Given the description of an element on the screen output the (x, y) to click on. 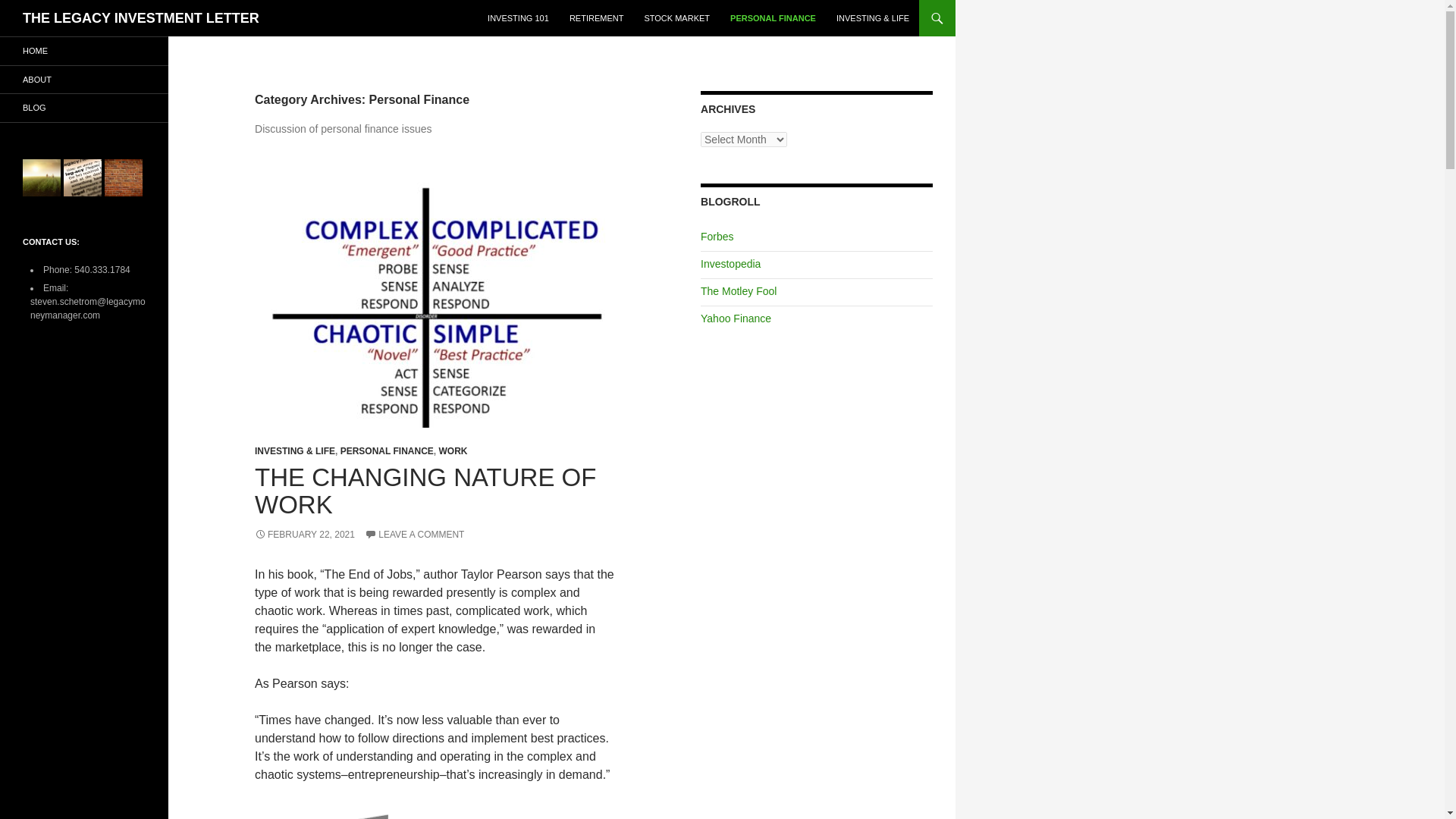
PERSONAL FINANCE (386, 450)
STOCK MARKET (676, 18)
LEAVE A COMMENT (414, 534)
THE LEGACY INVESTMENT LETTER (141, 18)
PERSONAL FINANCE (772, 18)
Investment Education (730, 263)
WORK (452, 450)
Business Finance, Stock Market, Quotes, and News (735, 318)
THE CHANGING NATURE OF WORK (424, 490)
INVESTING 101 (518, 18)
Stock Investing Advice and Research (738, 291)
FEBRUARY 22, 2021 (304, 534)
RETIREMENT (596, 18)
